Given the description of an element on the screen output the (x, y) to click on. 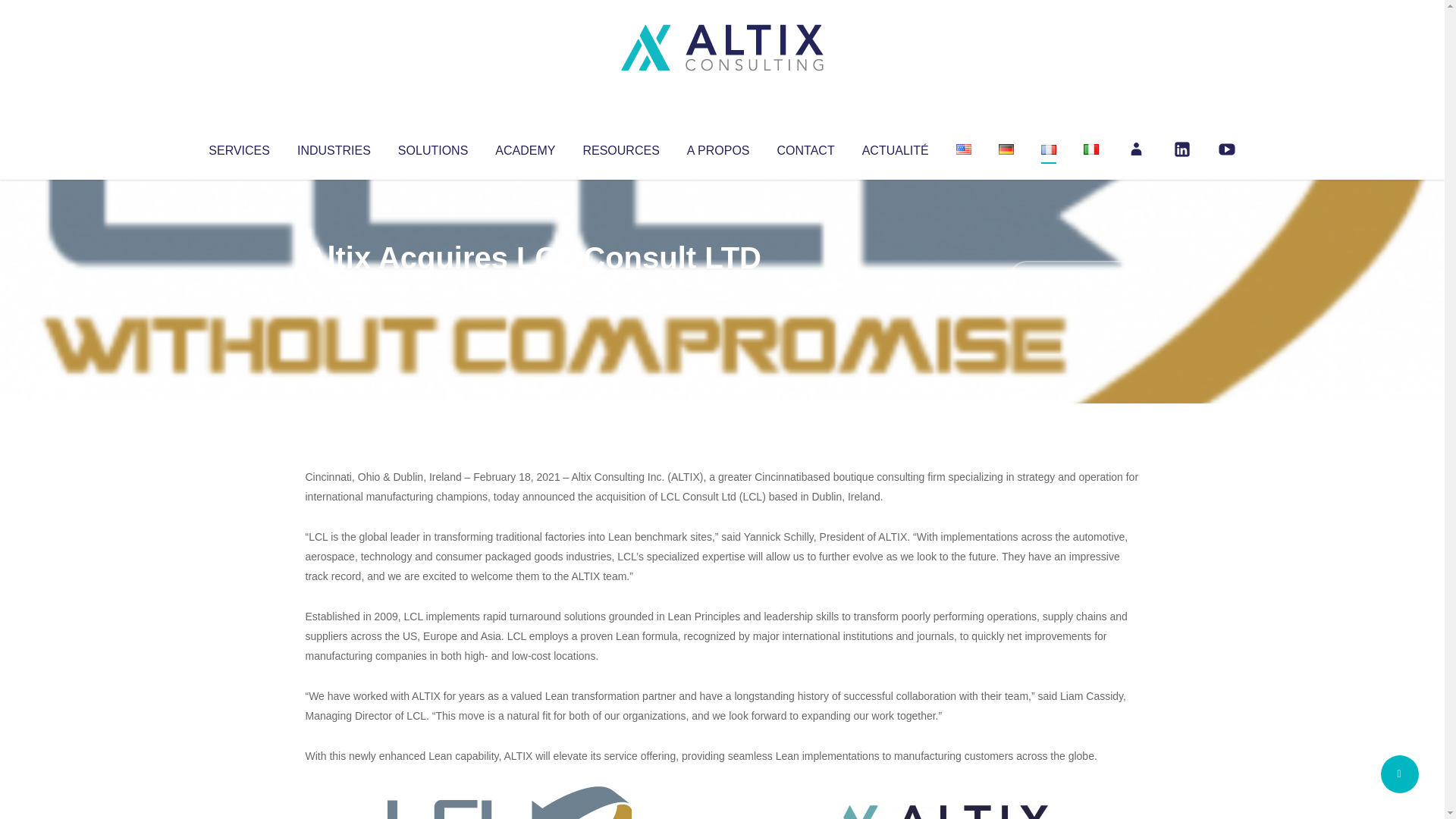
RESOURCES (620, 146)
Uncategorized (530, 287)
Articles par Altix (333, 287)
SERVICES (238, 146)
Altix (333, 287)
ACADEMY (524, 146)
A PROPOS (718, 146)
SOLUTIONS (432, 146)
No Comments (1073, 278)
INDUSTRIES (334, 146)
